Given the description of an element on the screen output the (x, y) to click on. 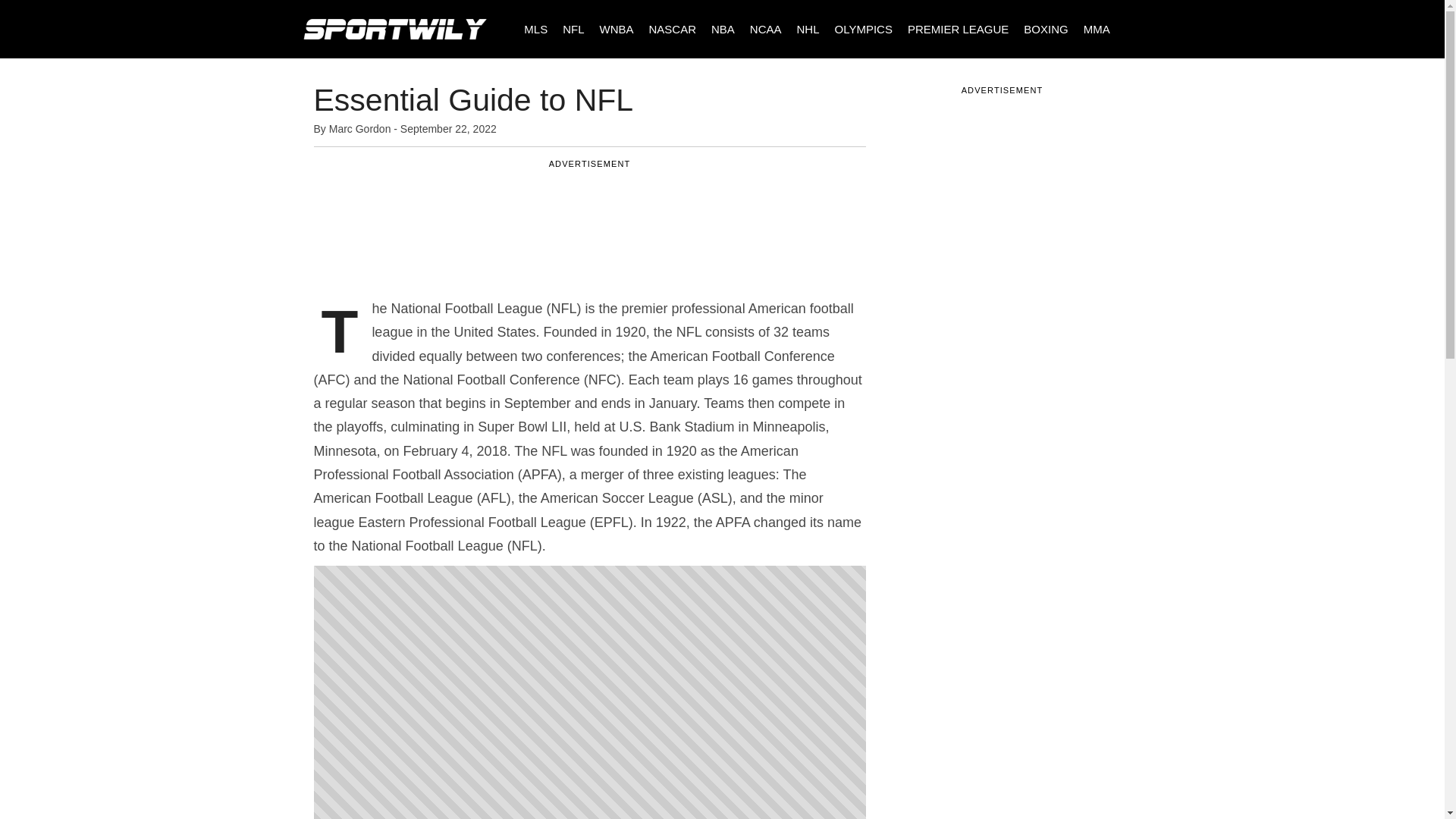
WNBA (616, 29)
NCAA (765, 29)
MMA (1096, 29)
NBA (722, 29)
NFL (573, 29)
BOXING (1045, 29)
NASCAR (672, 29)
NHL (808, 29)
MLS (535, 29)
OLYMPICS (863, 29)
PREMIER LEAGUE (957, 29)
